Given the description of an element on the screen output the (x, y) to click on. 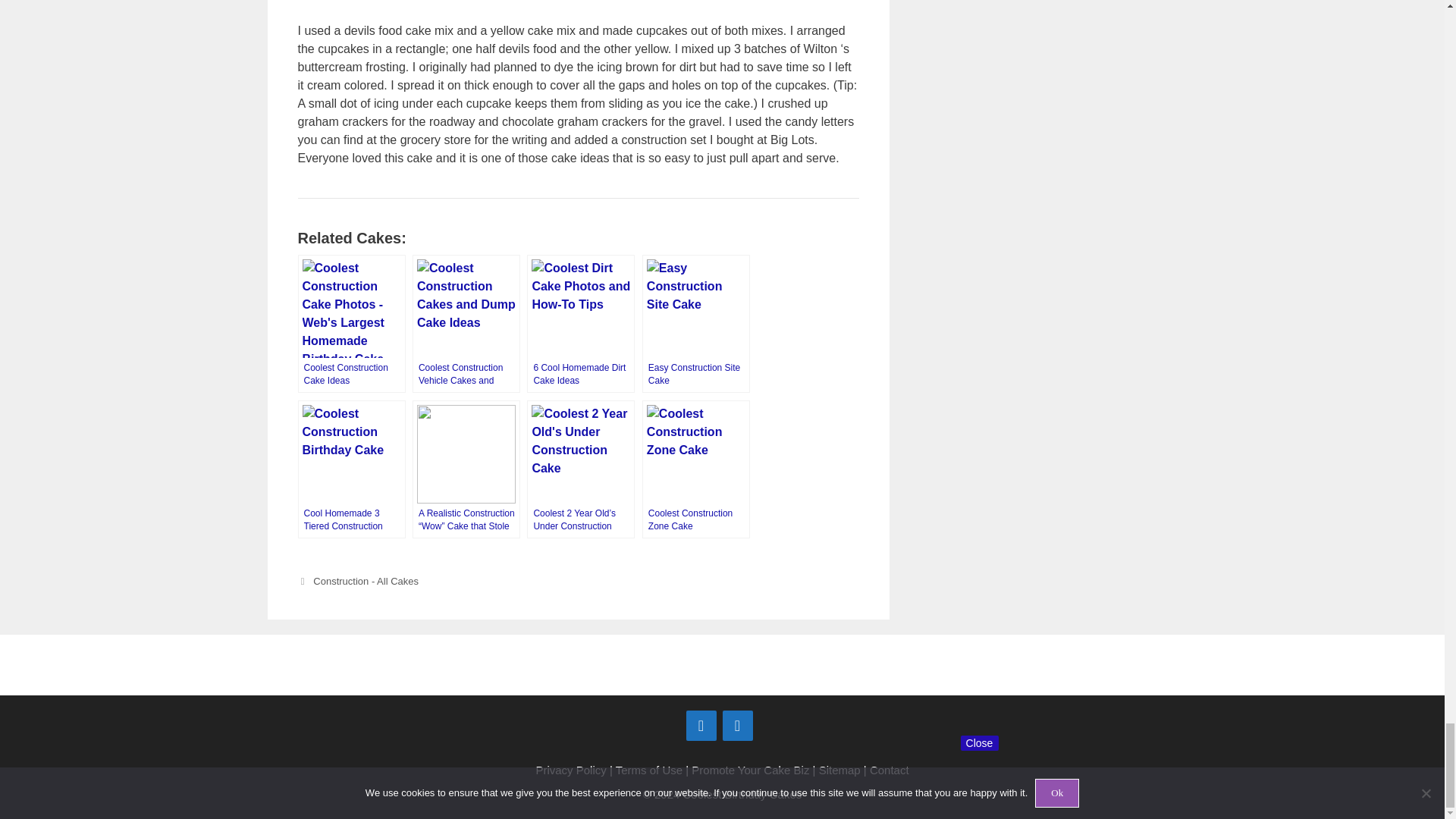
Facebook (700, 725)
